Given the description of an element on the screen output the (x, y) to click on. 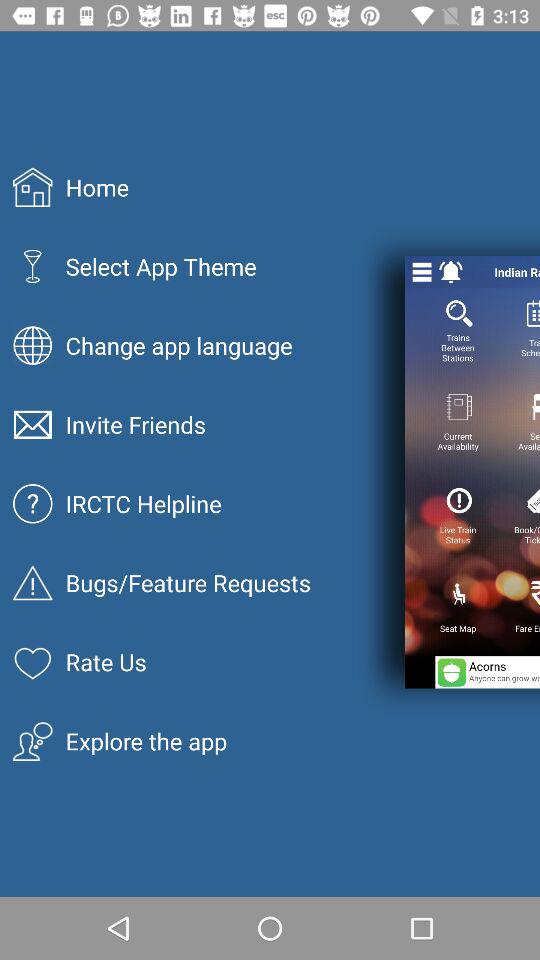
message notification (451, 271)
